Given the description of an element on the screen output the (x, y) to click on. 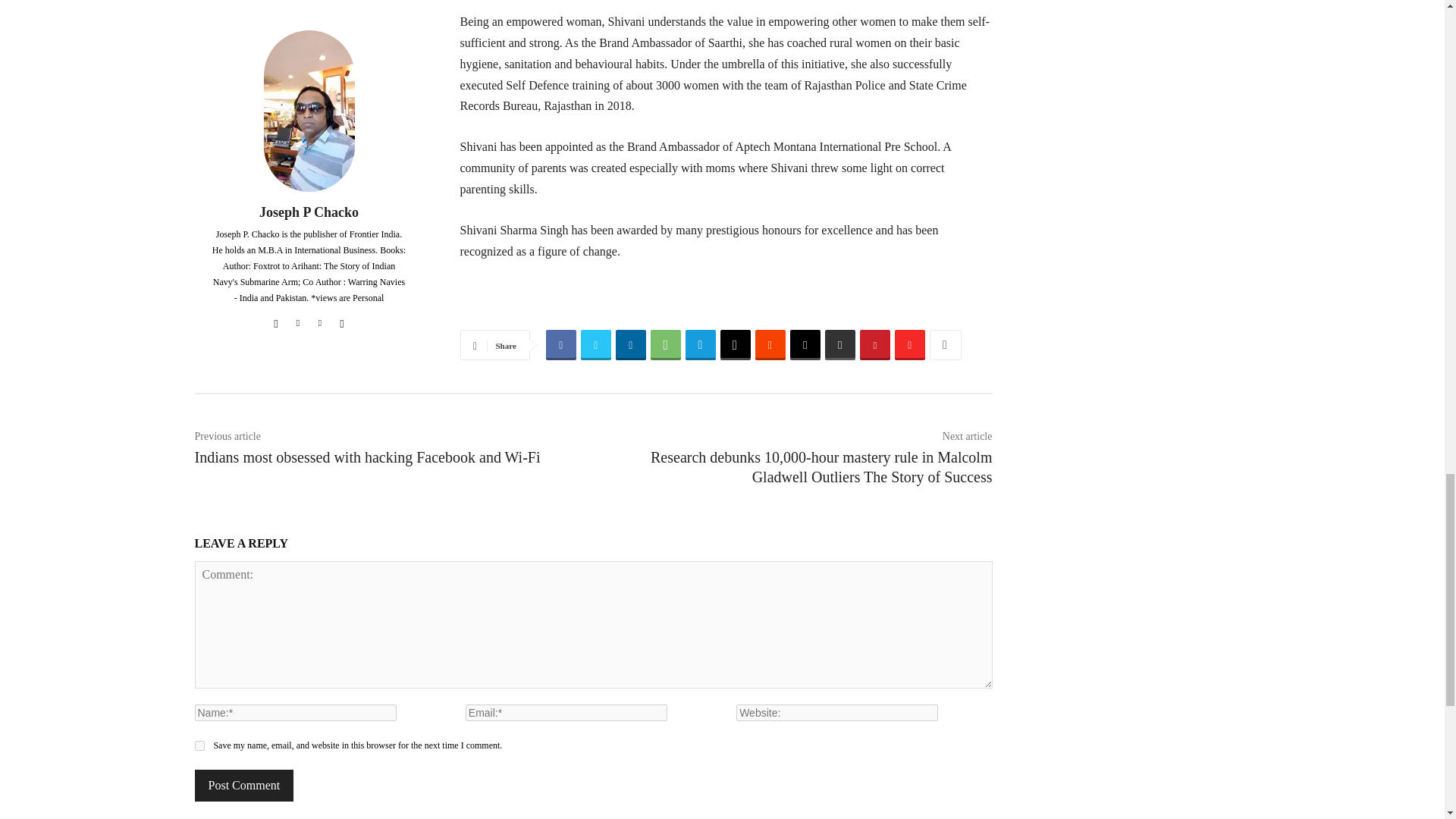
Post Comment (243, 785)
yes (198, 746)
